Given the description of an element on the screen output the (x, y) to click on. 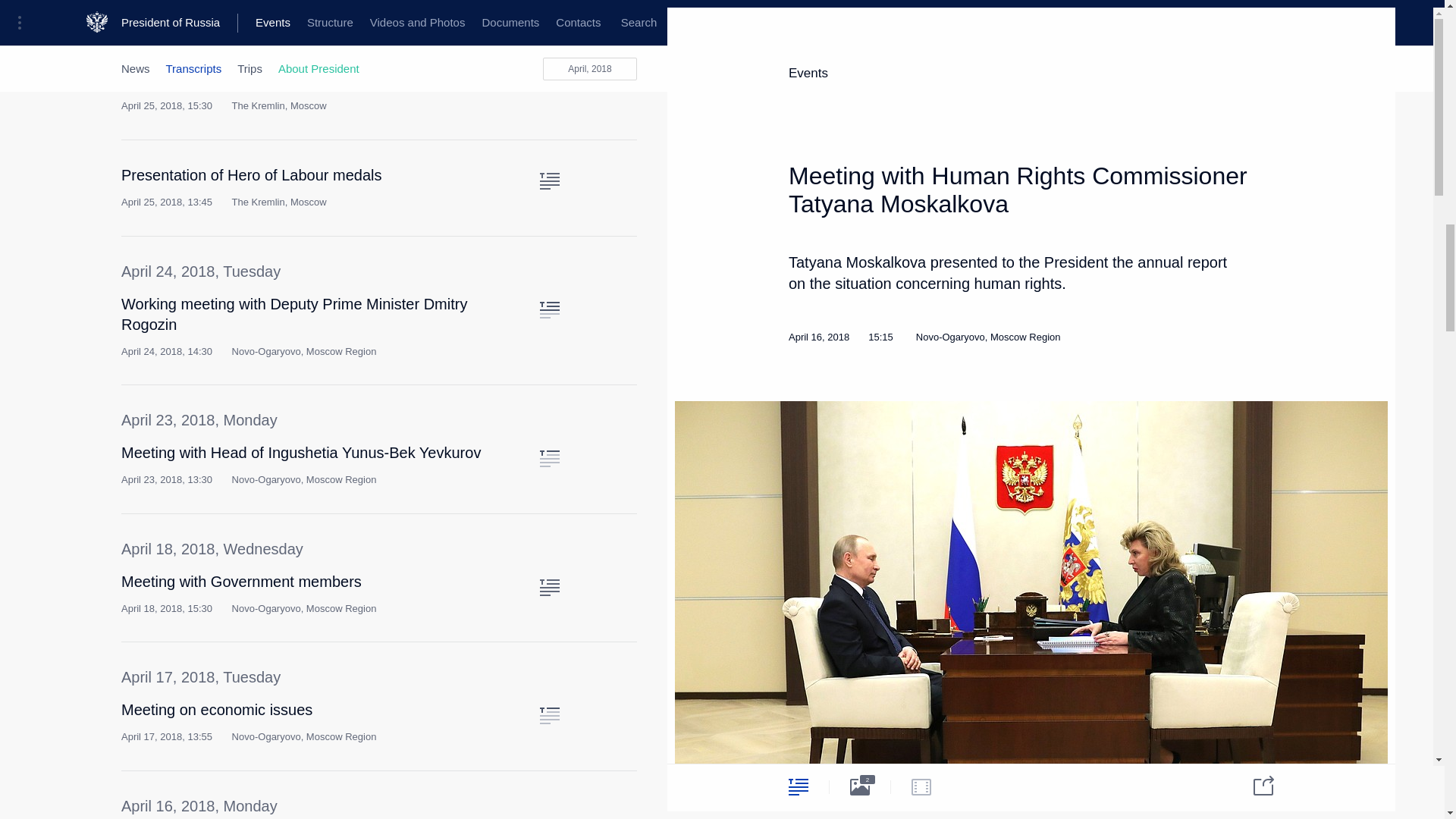
Text of the article (549, 180)
Text of the article (549, 310)
Text of the article (549, 64)
Text of the article (549, 587)
Text of the article (549, 458)
